Given the description of an element on the screen output the (x, y) to click on. 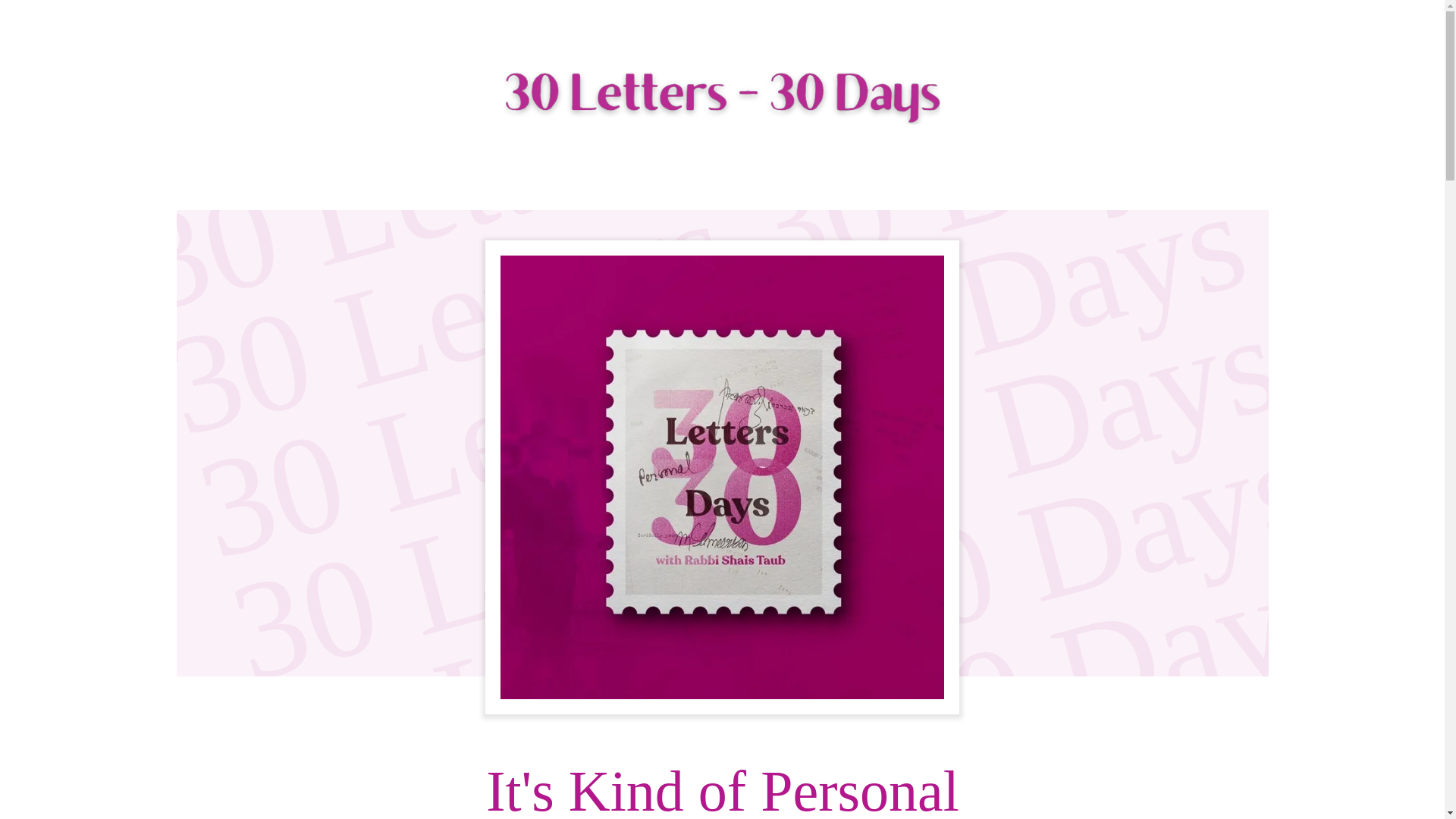
30 Letters - 30 Days Element type: hover (722, 96)
